Given the description of an element on the screen output the (x, y) to click on. 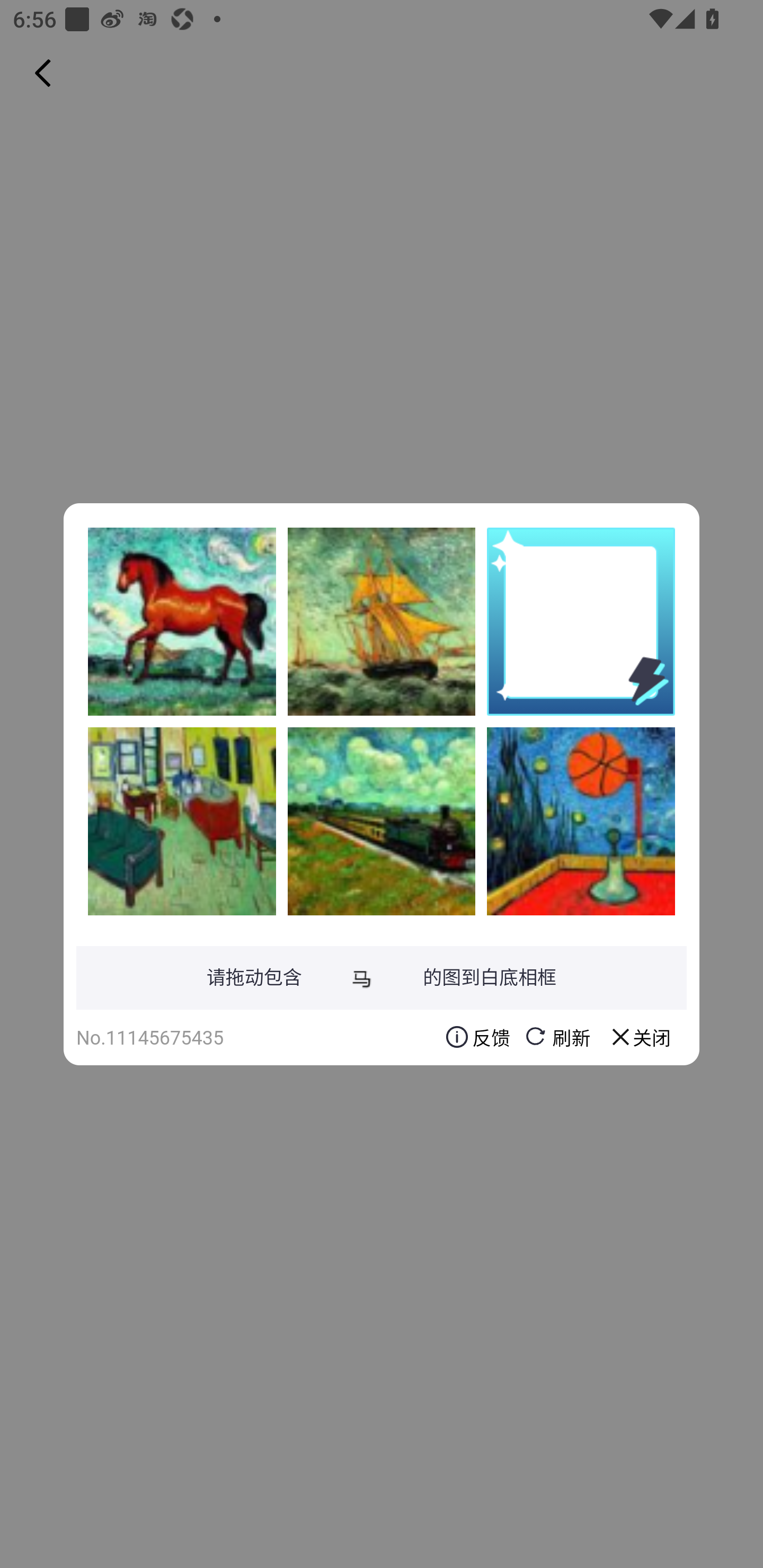
agictQU278NBSHbevI9HOn9lk1Bc (181, 621)
9QC3Q (181, 820)
